Given the description of an element on the screen output the (x, y) to click on. 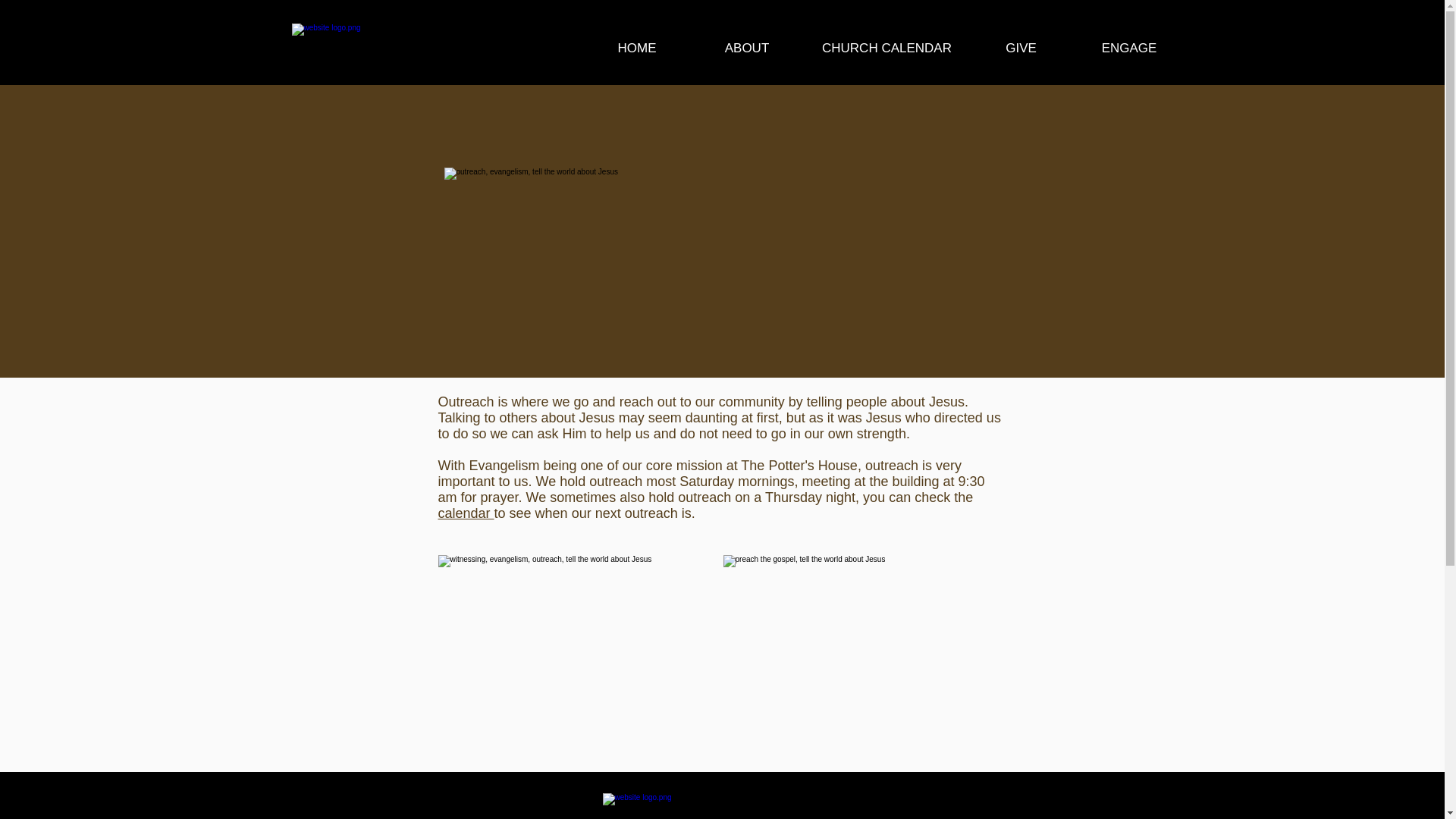
GIVE (1021, 48)
ABOUT (746, 48)
calendar (466, 513)
HOME (636, 48)
CHURCH CALENDAR (885, 48)
